Given the description of an element on the screen output the (x, y) to click on. 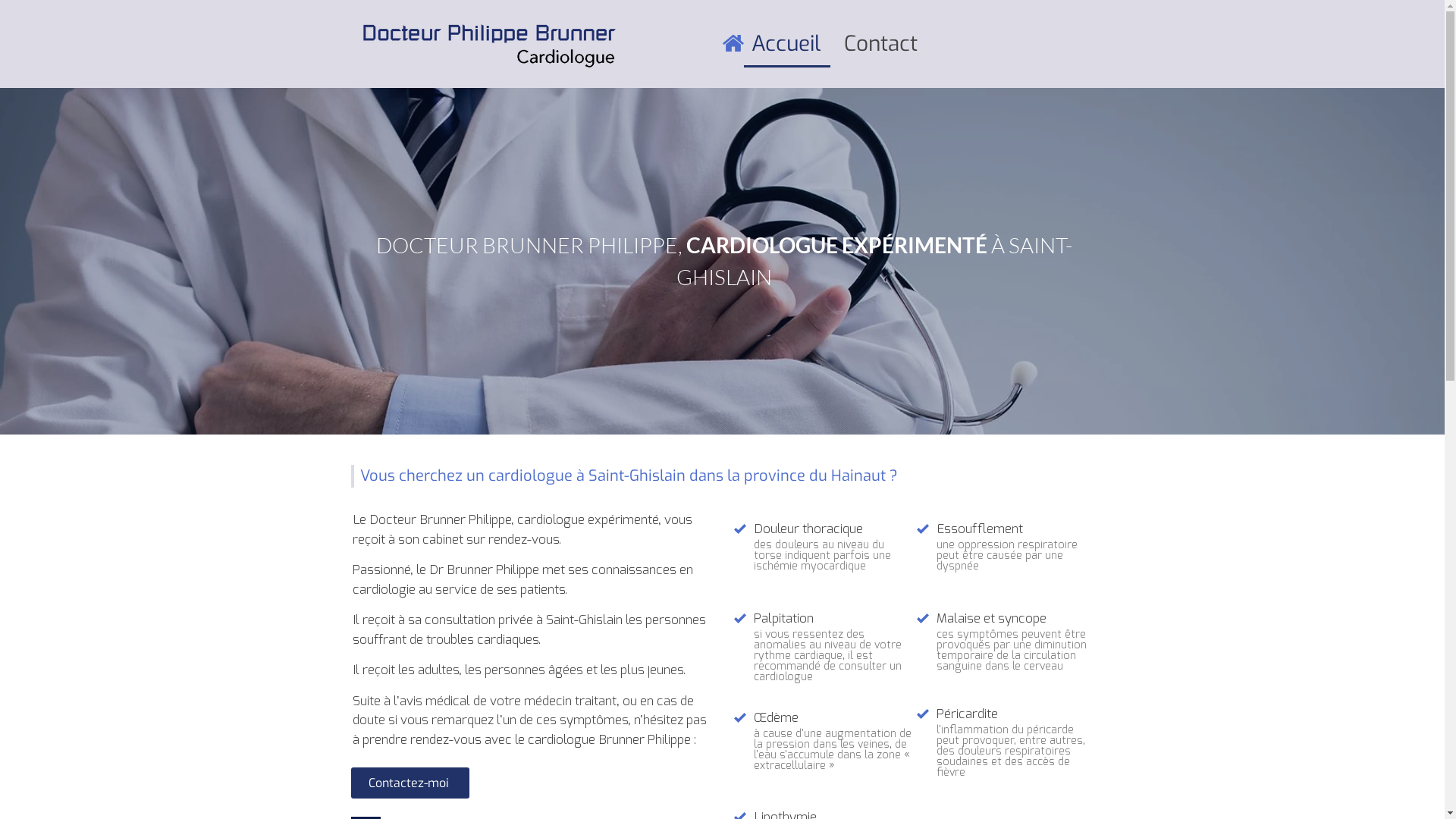
Contact Element type: text (880, 44)
Accueil Element type: text (786, 44)
Contactez-moi Element type: text (409, 782)
